Given the description of an element on the screen output the (x, y) to click on. 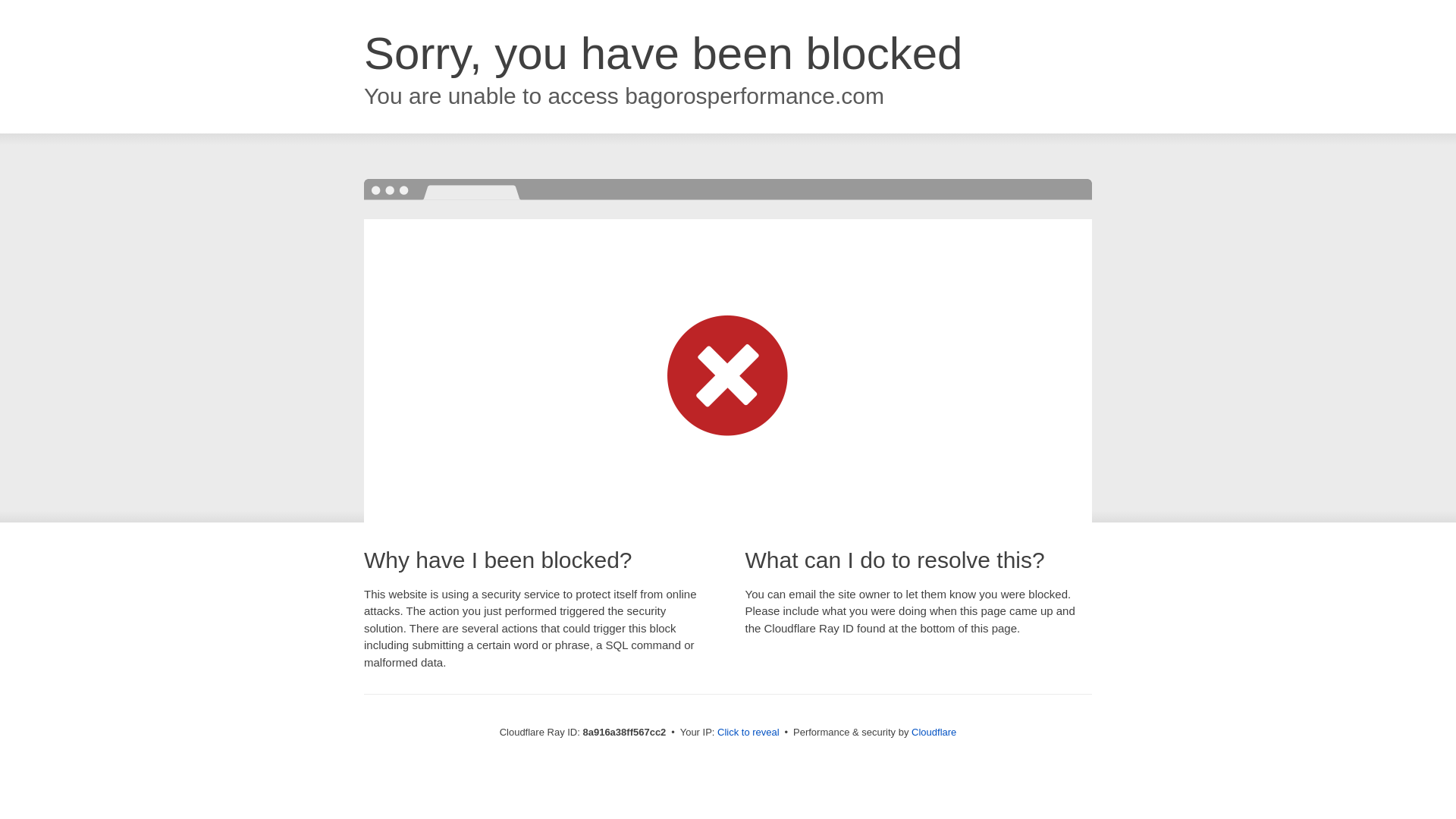
Click to reveal (747, 732)
Cloudflare (933, 731)
